Given the description of an element on the screen output the (x, y) to click on. 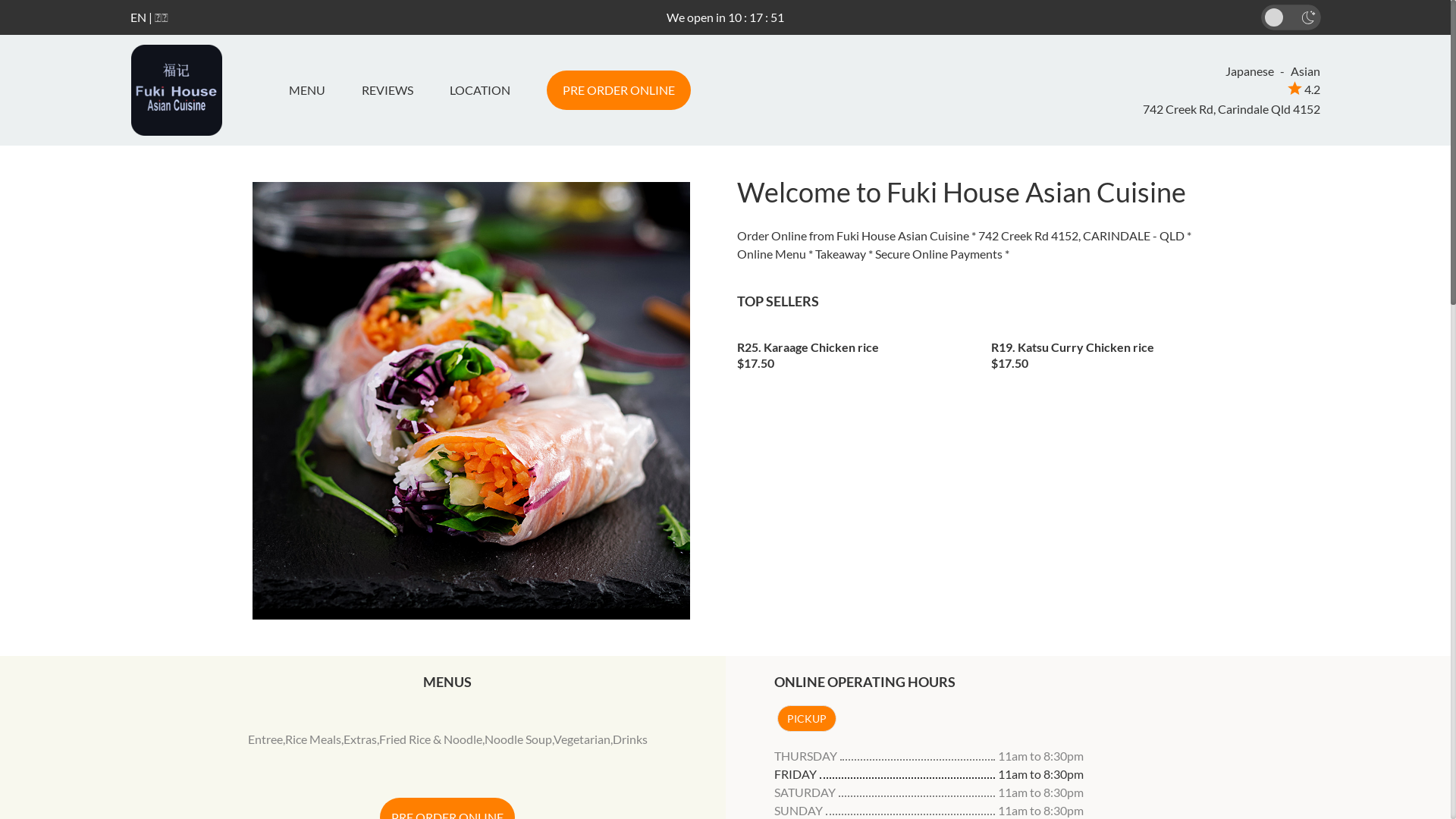
Fried Rice & Noodle Element type: text (430, 738)
Entree Element type: text (264, 738)
MENU Element type: text (312, 90)
LOCATION Element type: text (478, 90)
Vegetarian Element type: text (581, 738)
Rice Meals Element type: text (313, 738)
Extras Element type: text (359, 738)
EN Element type: text (138, 16)
PRE ORDER ONLINE Element type: text (618, 89)
Noodle Soup Element type: text (518, 738)
4.2 Element type: text (1303, 88)
PICKUP Element type: text (805, 718)
REVIEWS Element type: text (386, 90)
R19. Katsu Curry Chicken rice
$17.50 Element type: text (1107, 350)
R25. Karaage Chicken rice
$17.50 Element type: text (853, 350)
Drinks Element type: text (629, 738)
